Given the description of an element on the screen output the (x, y) to click on. 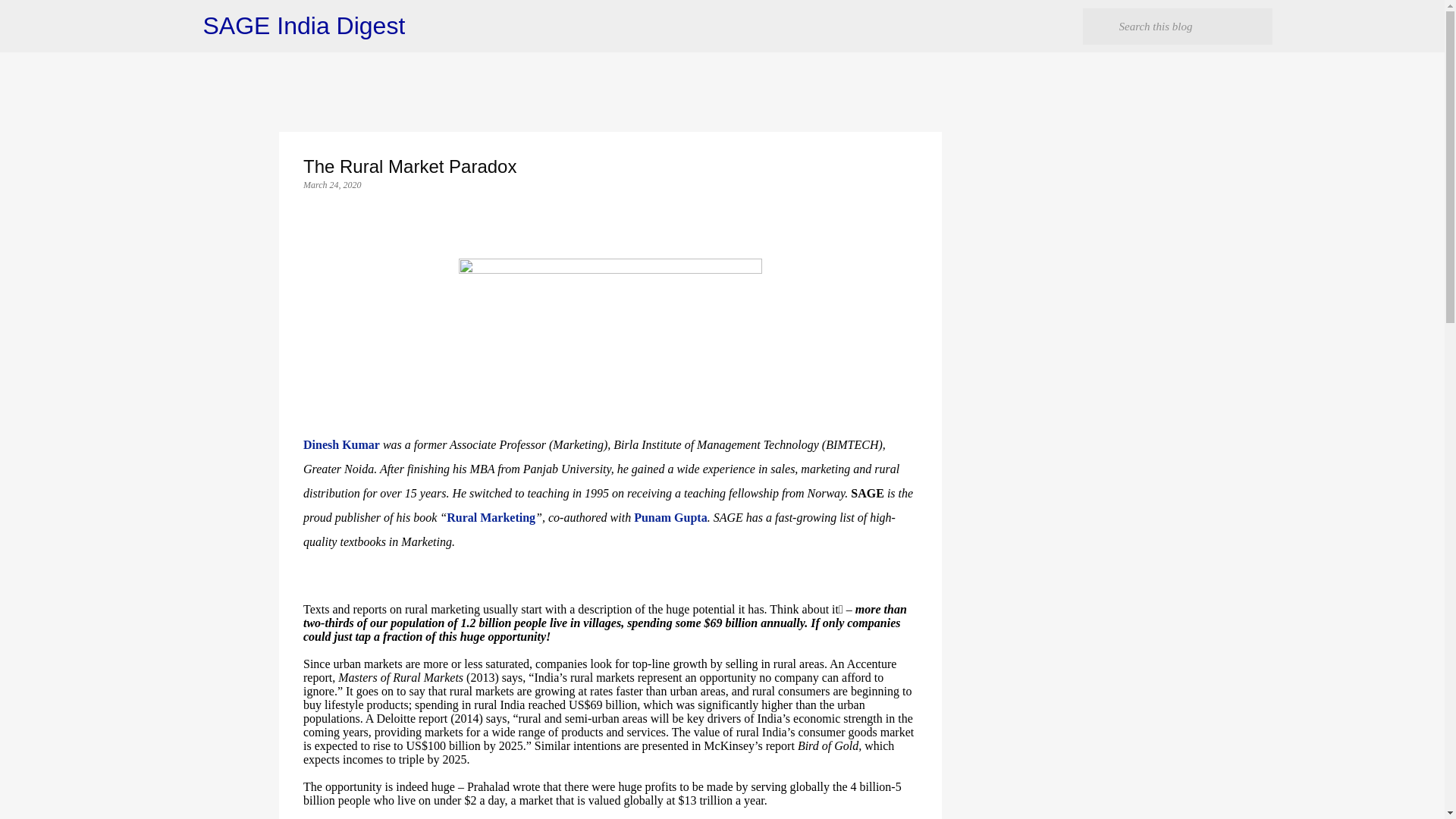
Rural Marketing (490, 517)
permanent link (331, 184)
Dinesh Kumar (341, 444)
SAGE India Digest (304, 25)
Punam Gupta (669, 517)
March 24, 2020 (331, 184)
